Given the description of an element on the screen output the (x, y) to click on. 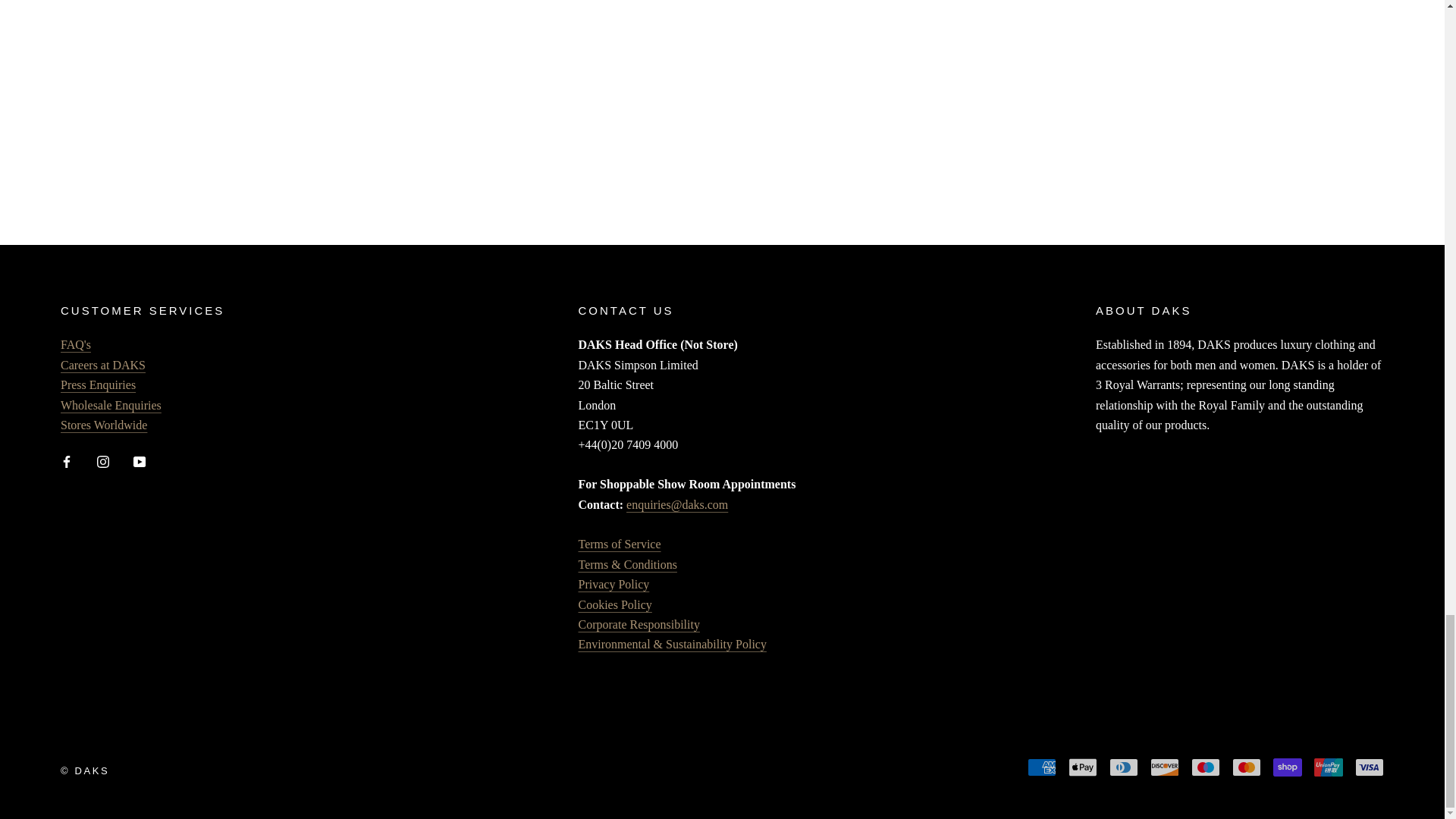
American Express (1042, 767)
Careers at DAKS (103, 374)
Corporate Responsibility (638, 624)
Diners Club (1123, 767)
Shop Pay (1286, 767)
Stores - Worldwide (104, 424)
Cookies Policy (614, 604)
Terms Of Service (619, 543)
Apple Pay (1082, 767)
Mastercard (1245, 767)
Privacy Policy (613, 584)
Press Enquiries (98, 384)
Maestro (1205, 767)
Visa (1369, 767)
Union Pay (1328, 767)
